Given the description of an element on the screen output the (x, y) to click on. 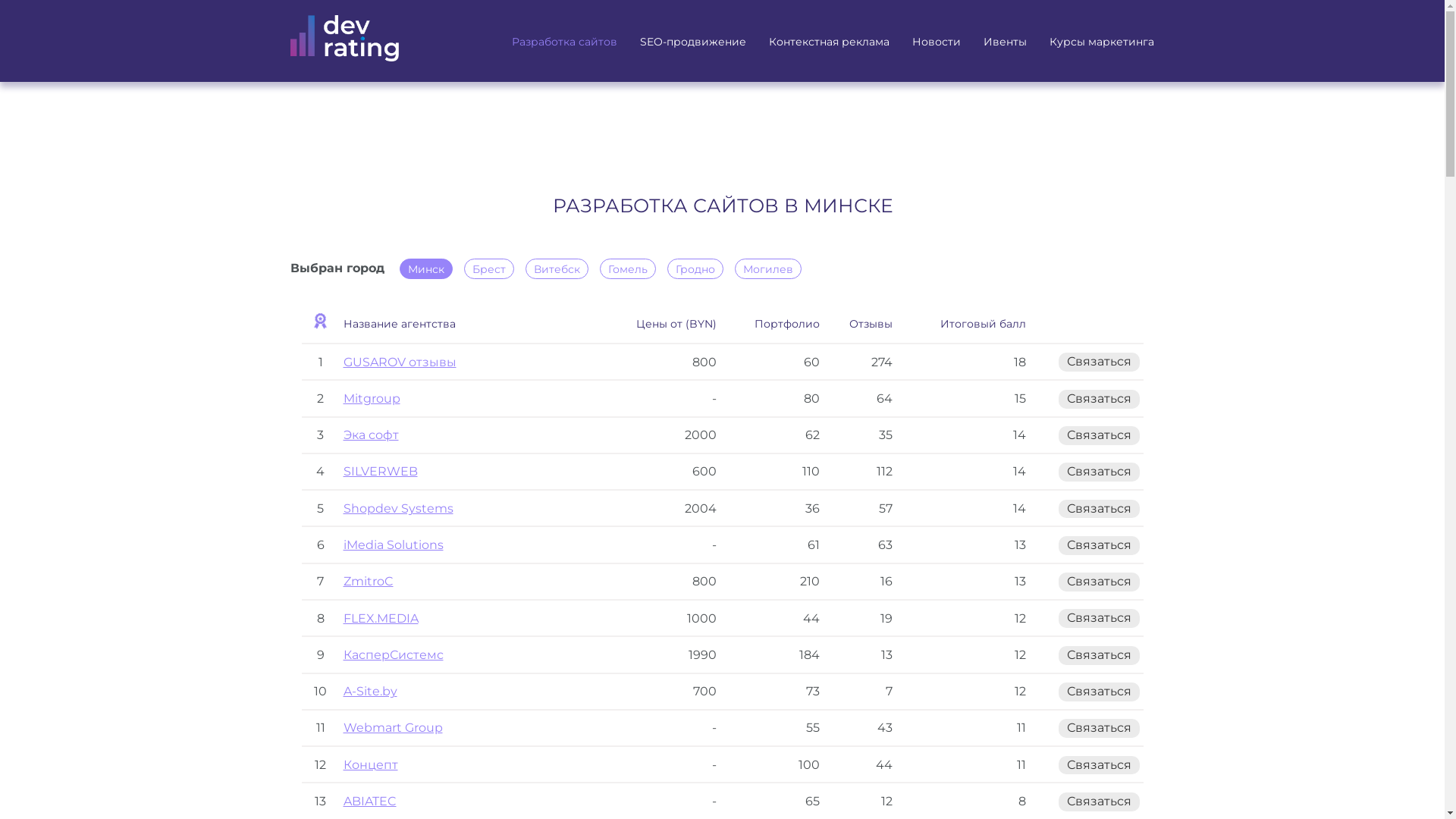
Webmart Group Element type: text (392, 727)
A-Site.by Element type: text (369, 691)
ABIATEC Element type: text (368, 800)
FLEX.MEDIA Element type: text (379, 618)
SILVERWEB Element type: text (379, 471)
iMedia Solutions Element type: text (392, 544)
ZmitroC Element type: text (367, 581)
Mitgroup Element type: text (370, 398)
Shopdev Systems Element type: text (397, 508)
